Given the description of an element on the screen output the (x, y) to click on. 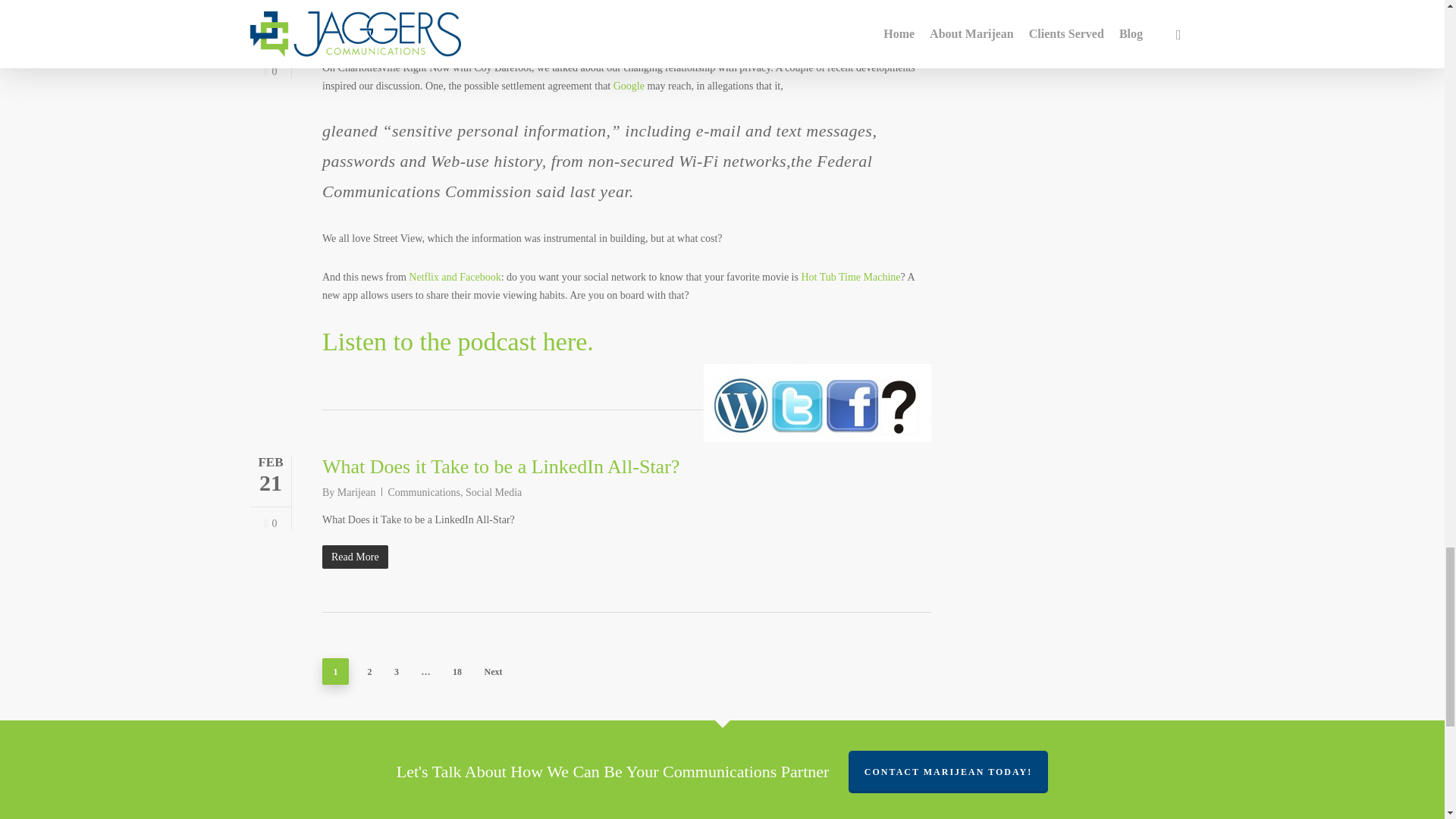
Google (628, 85)
Hot Tub Time Machine (849, 276)
Communications (423, 40)
Marijean (356, 40)
Netflix and Facebook (454, 276)
Posts by Marijean (356, 40)
Media (479, 40)
WTF? Friday: Internet Privacy, Netflix Sharing and More! (552, 14)
Love this (269, 71)
Love this (269, 523)
0 (269, 71)
Posts by Marijean (356, 491)
